Given the description of an element on the screen output the (x, y) to click on. 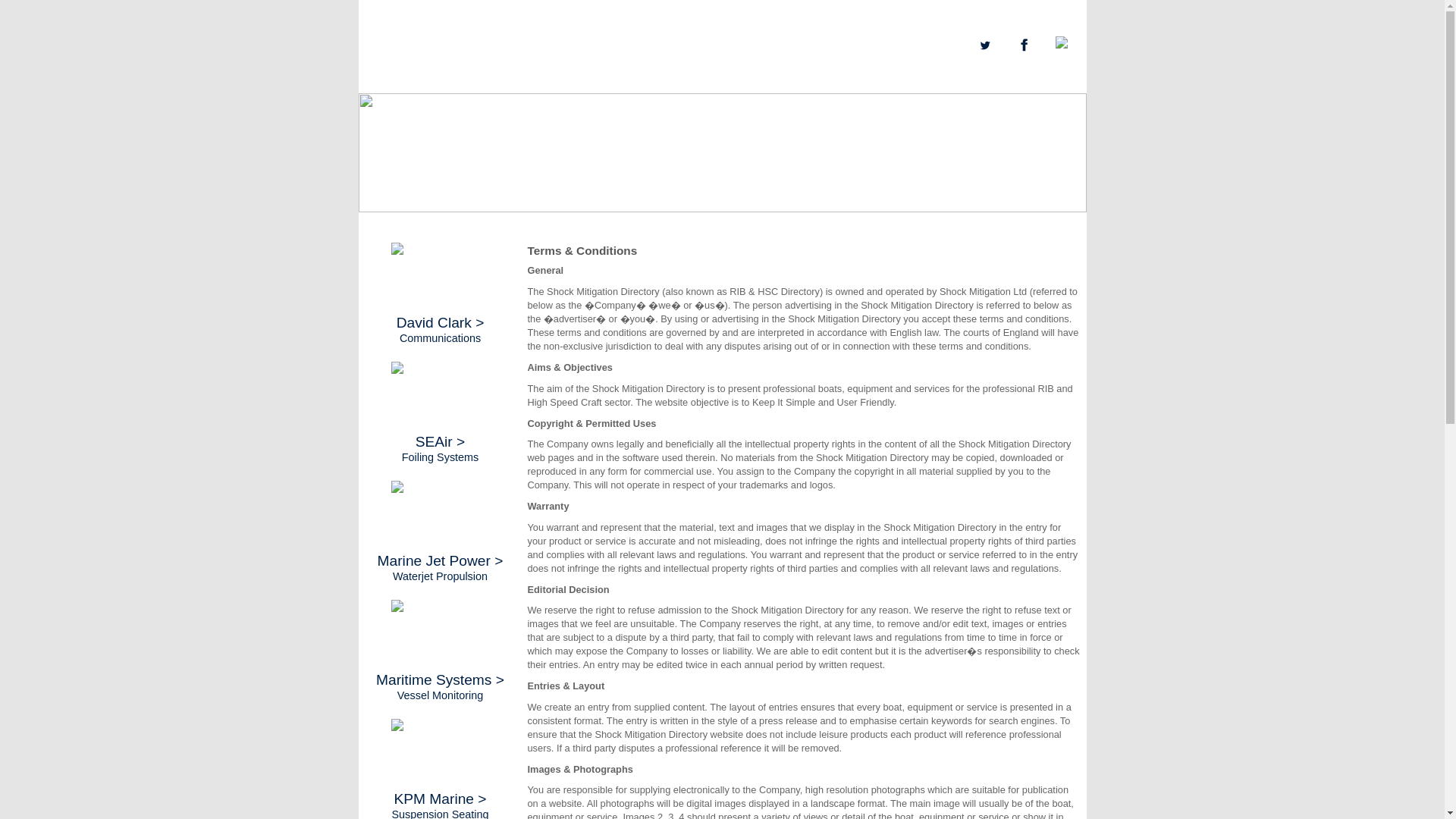
Event Partners (437, 81)
Articles (497, 81)
Contact Us (586, 81)
Shock Mitigation Directory (469, 40)
Home (383, 81)
Media (538, 81)
